Given the description of an element on the screen output the (x, y) to click on. 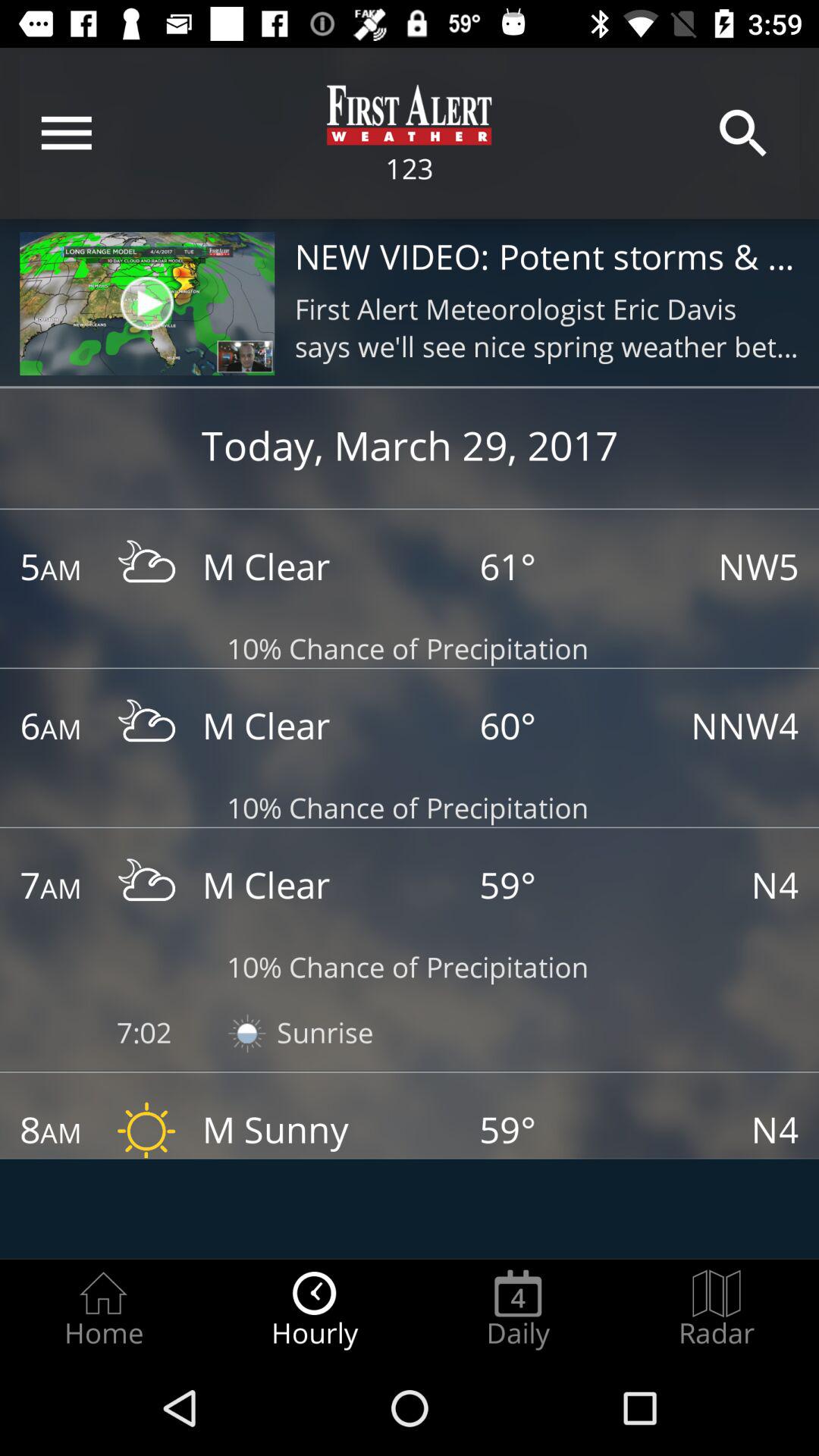
tap the radar item (716, 1309)
